Given the description of an element on the screen output the (x, y) to click on. 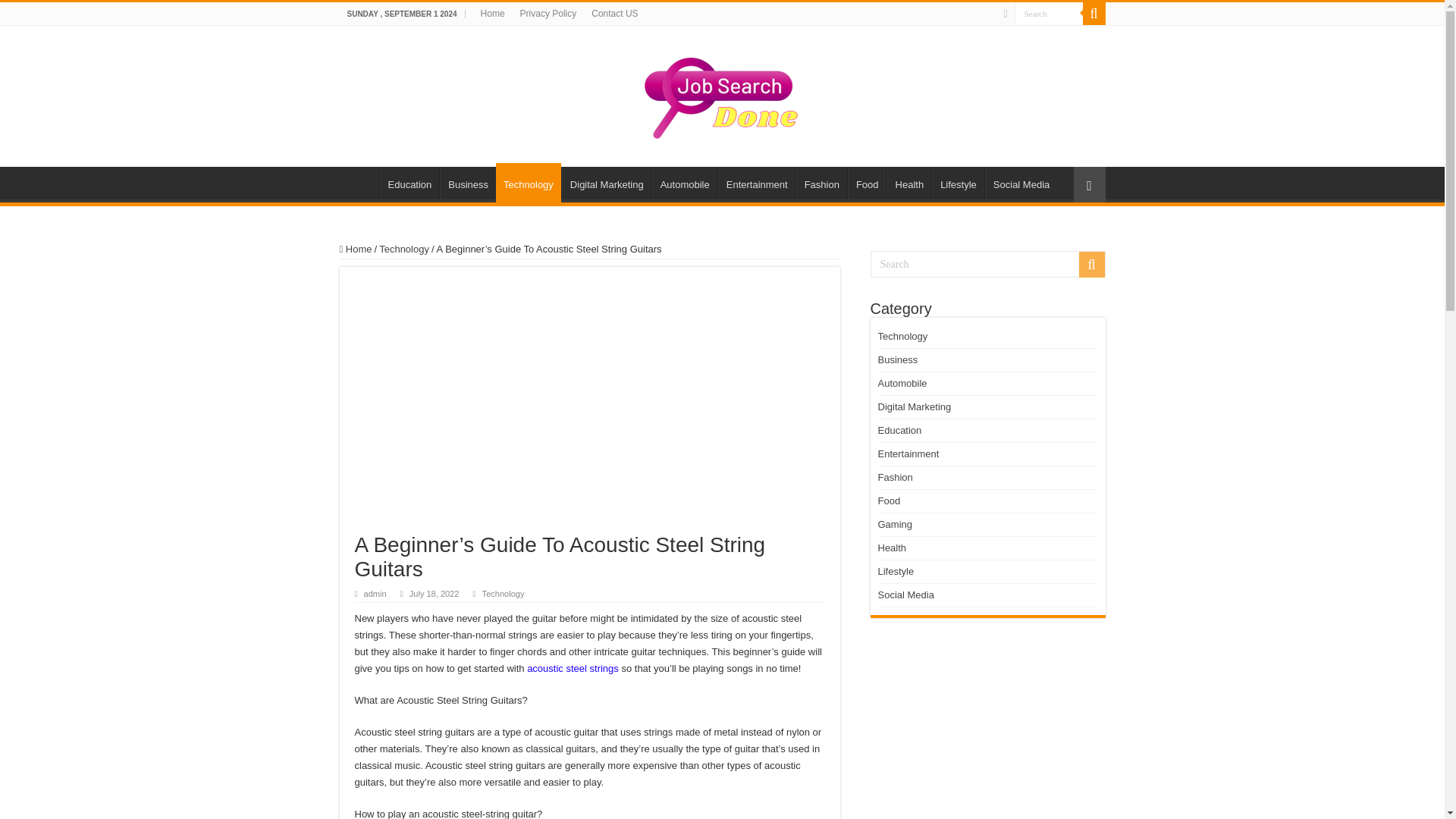
Automobile (684, 183)
Random Article (1089, 184)
Business (467, 183)
Health (908, 183)
acoustic steel strings (572, 668)
Entertainment (755, 183)
Education (408, 183)
Technology (502, 593)
Fashion (821, 183)
Search (1094, 13)
